Given the description of an element on the screen output the (x, y) to click on. 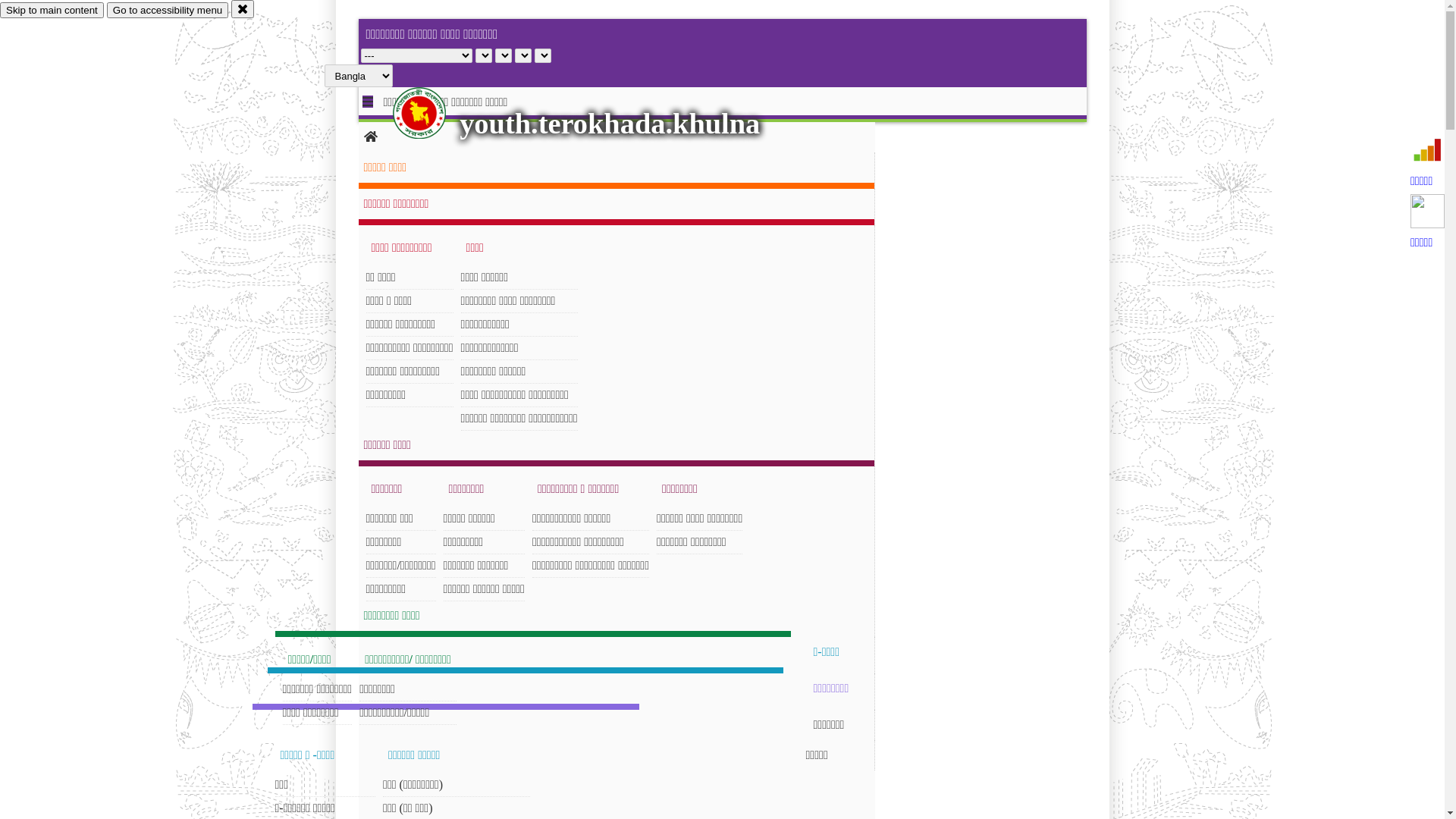

                
             Element type: hover (431, 112)
Go to accessibility menu Element type: text (167, 10)
youth.terokhada.khulna Element type: text (609, 123)
Skip to main content Element type: text (51, 10)
close Element type: hover (242, 9)
